Given the description of an element on the screen output the (x, y) to click on. 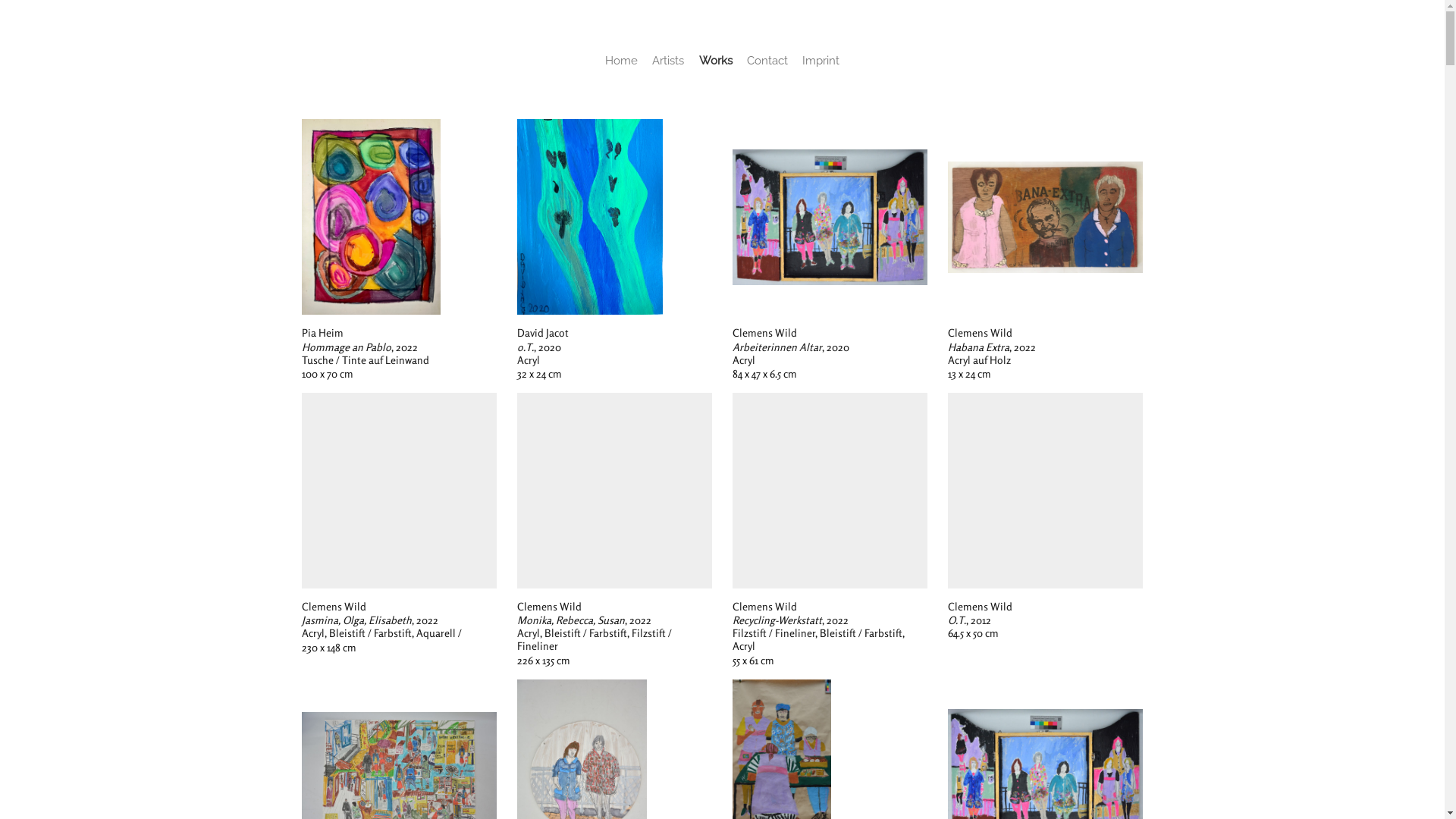
o.T., 2020 Element type: hover (589, 216)
Artists Element type: text (668, 60)
Habana Extra, 2022 Element type: hover (1045, 217)
Contact Element type: text (766, 60)
Home Element type: text (621, 60)
Hommage an Pablo, 2022 Element type: hover (370, 216)
Works Element type: text (715, 60)
Imprint Element type: text (820, 60)
Arbeiterinnen Altar, 2020 Element type: hover (830, 217)
